Given the description of an element on the screen output the (x, y) to click on. 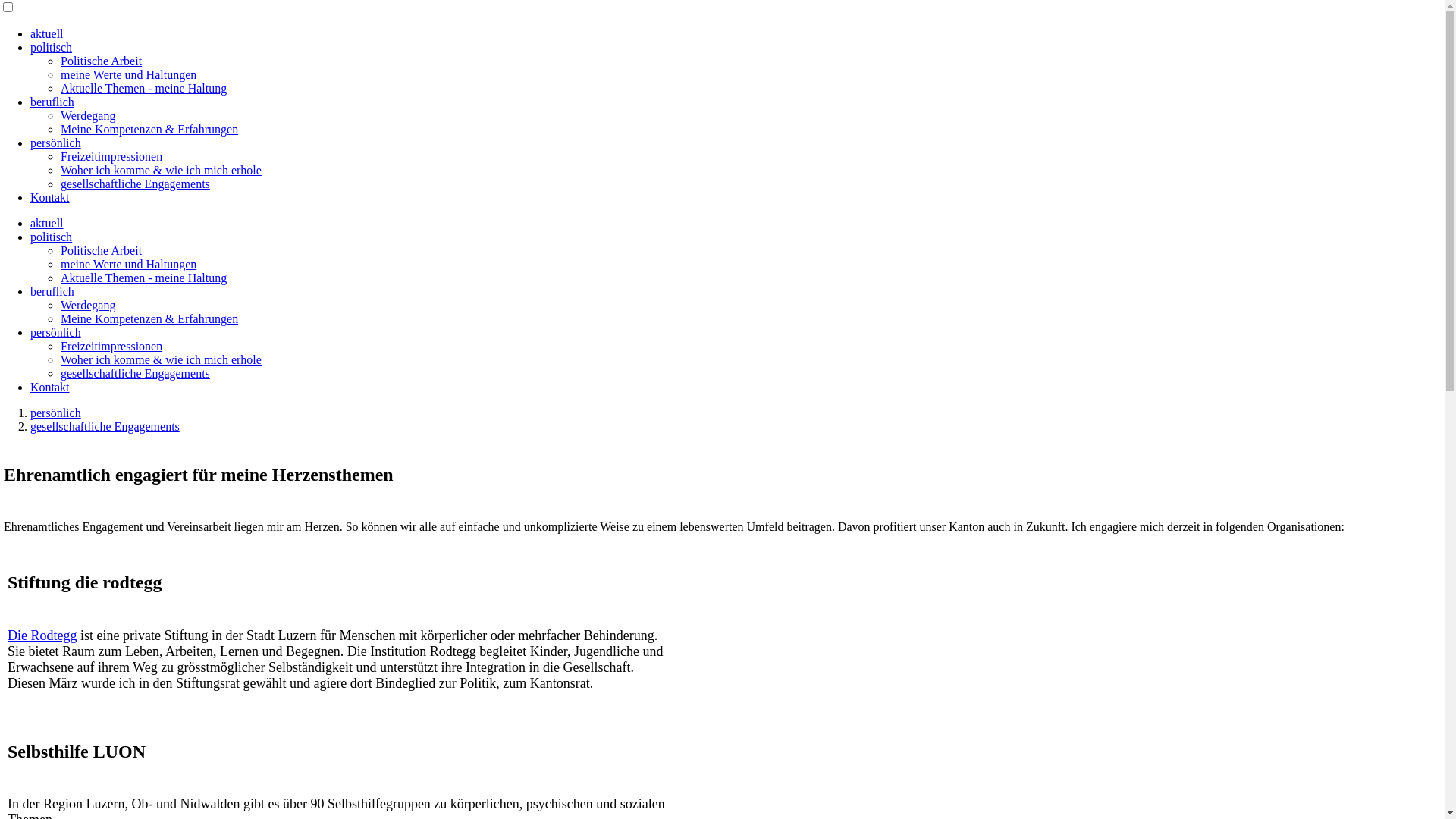
Freizeitimpressionen Element type: text (111, 345)
politisch Element type: text (51, 46)
politisch Element type: text (51, 236)
Kontakt Element type: text (49, 197)
aktuell Element type: text (46, 33)
Die Rodtegg Element type: text (42, 635)
meine Werte und Haltungen Element type: text (128, 263)
Aktuelle Themen - meine Haltung Element type: text (143, 277)
Politische Arbeit Element type: text (100, 250)
Kontakt Element type: text (49, 386)
gesellschaftliche Engagements Element type: text (135, 183)
Woher ich komme & wie ich mich erhole Element type: text (160, 359)
beruflich Element type: text (52, 101)
Politische Arbeit Element type: text (100, 60)
beruflich Element type: text (52, 291)
aktuell Element type: text (46, 222)
Aktuelle Themen - meine Haltung Element type: text (143, 87)
Meine Kompetenzen & Erfahrungen Element type: text (149, 128)
gesellschaftliche Engagements Element type: text (104, 426)
Werdegang Element type: text (87, 115)
Freizeitimpressionen Element type: text (111, 156)
gesellschaftliche Engagements Element type: text (135, 373)
Werdegang Element type: text (87, 304)
Woher ich komme & wie ich mich erhole Element type: text (160, 169)
Meine Kompetenzen & Erfahrungen Element type: text (149, 318)
meine Werte und Haltungen Element type: text (128, 74)
